Given the description of an element on the screen output the (x, y) to click on. 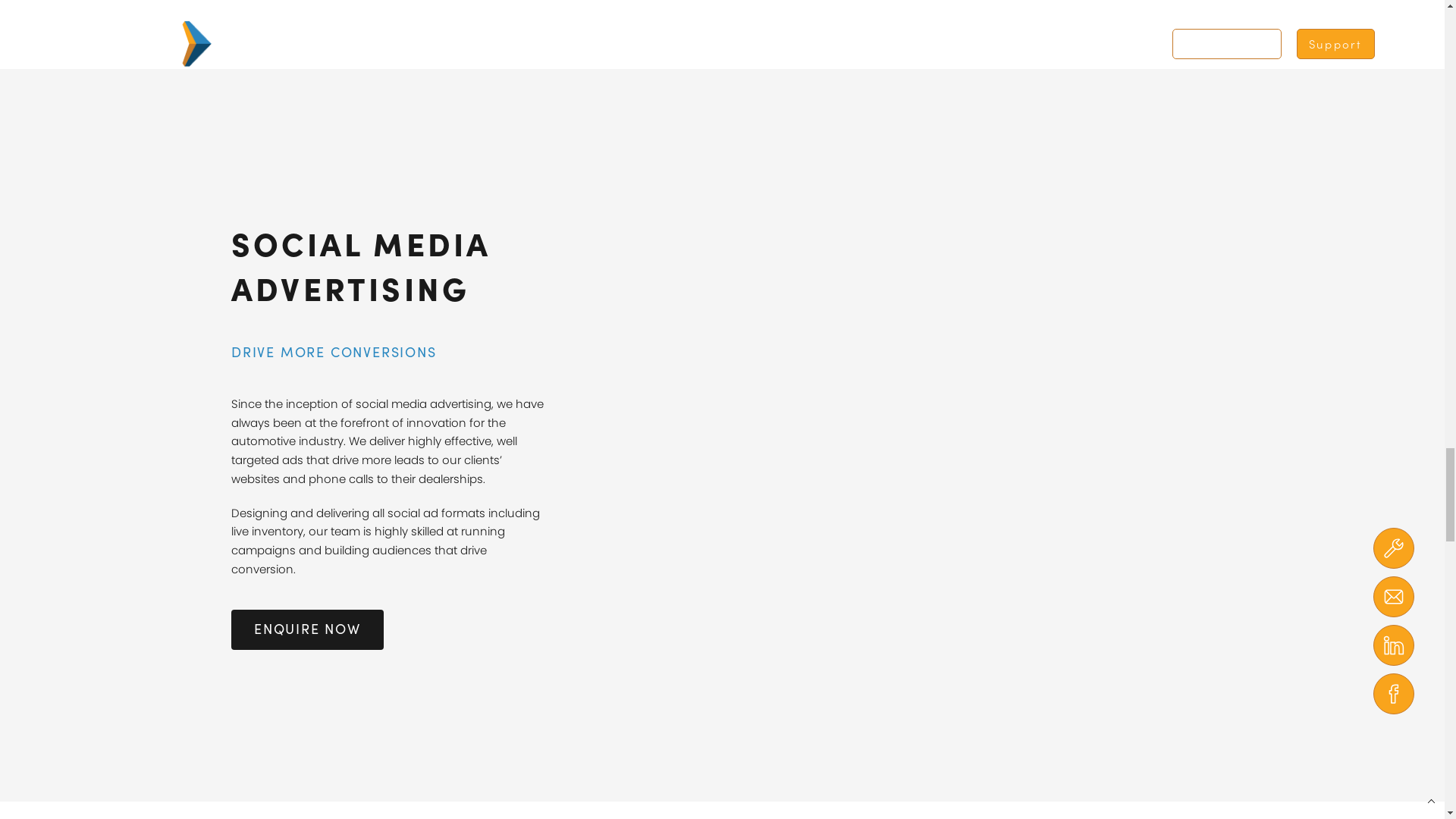
Display
> Element type: text (949, 621)
Social Media
> Element type: text (949, 751)
Live Inventory
> Element type: text (949, 665)
Programmatic Video
> Element type: text (949, 794)
SEM
> Element type: text (949, 578)
Digital Audio
> Element type: text (949, 708)
